Given the description of an element on the screen output the (x, y) to click on. 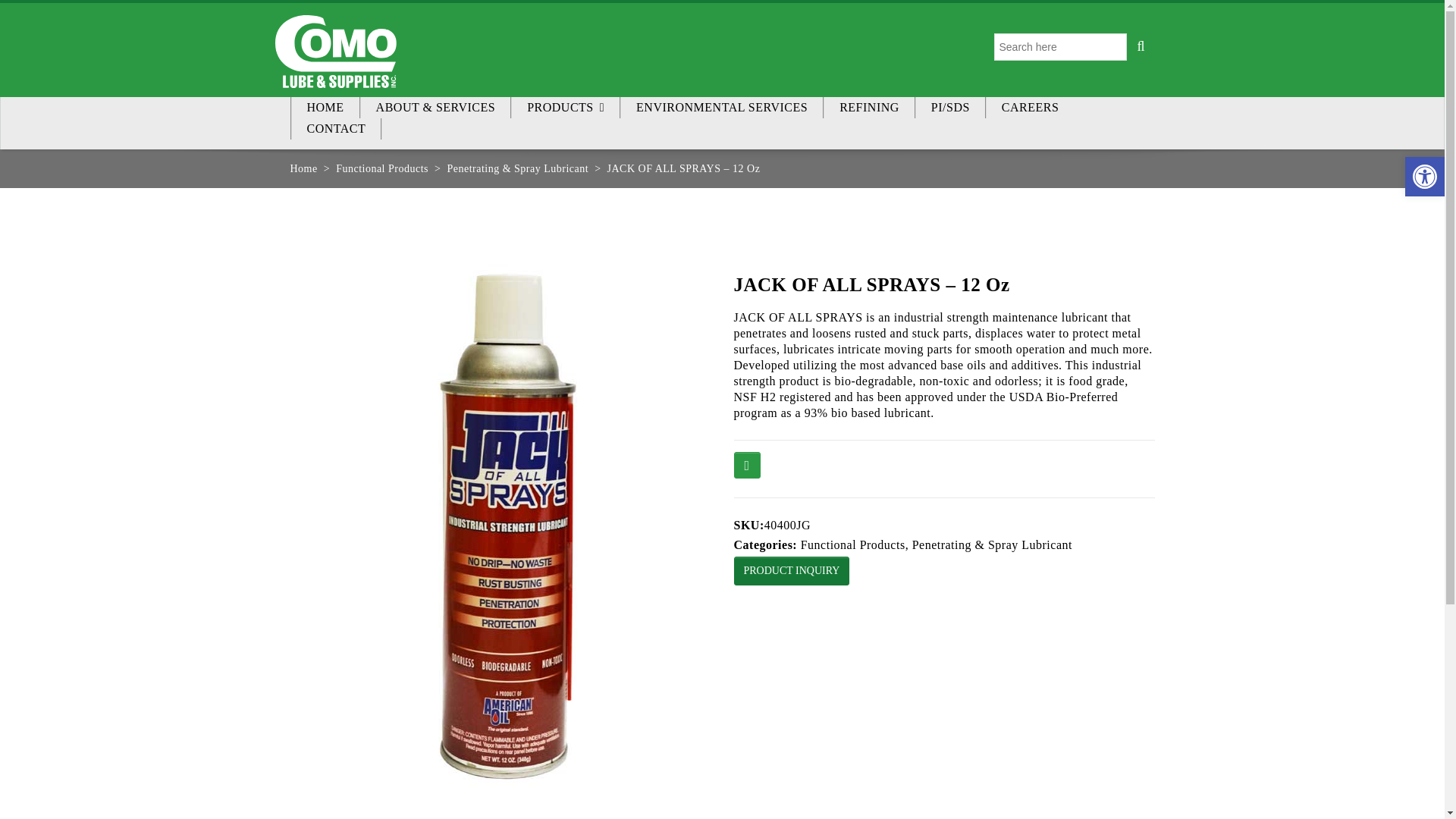
Accessibility Tools (1424, 176)
PRODUCTS (565, 107)
Search (1140, 46)
HOME (325, 107)
